Given the description of an element on the screen output the (x, y) to click on. 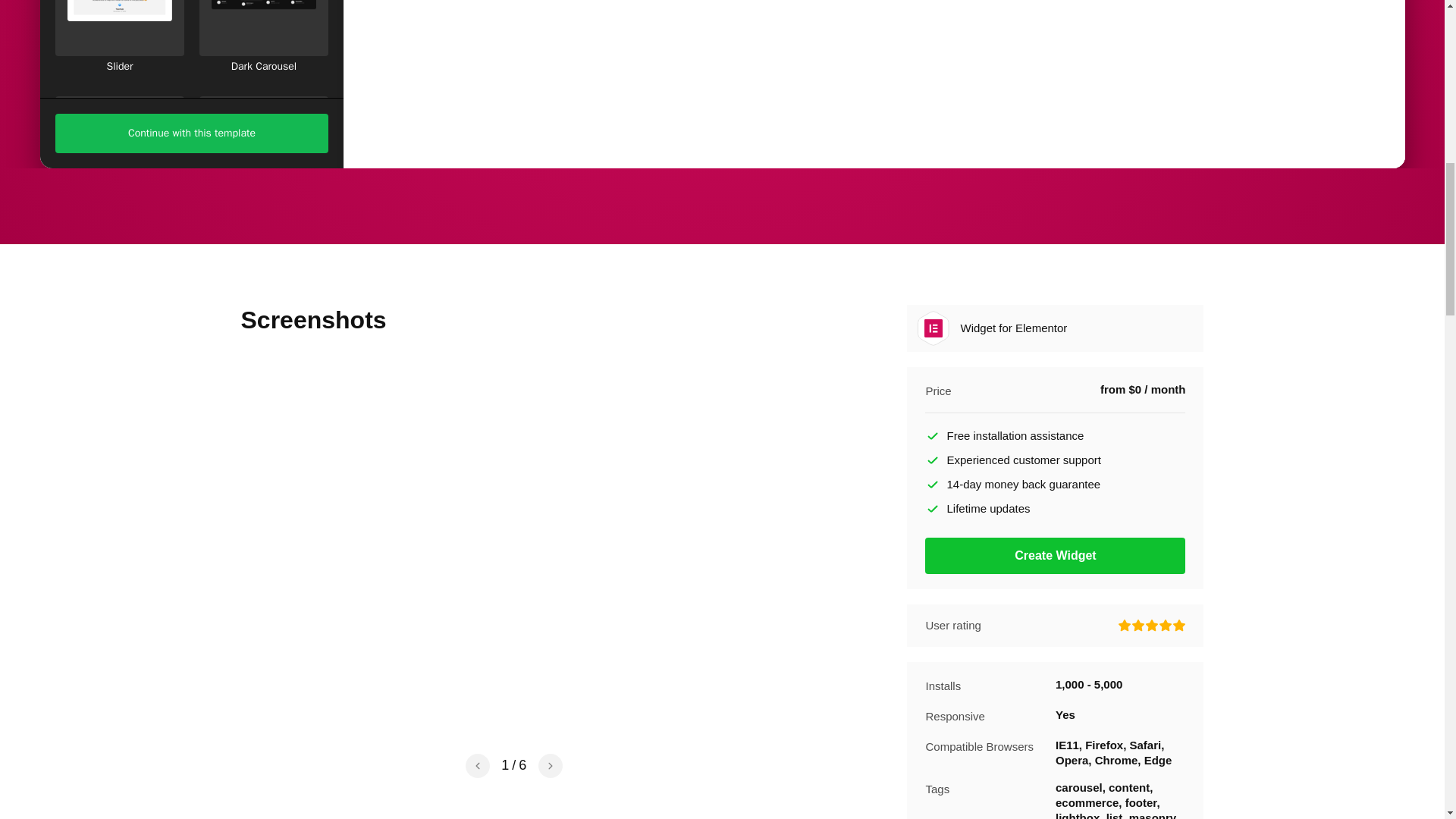
Widget for Elementor (933, 328)
